Given the description of an element on the screen output the (x, y) to click on. 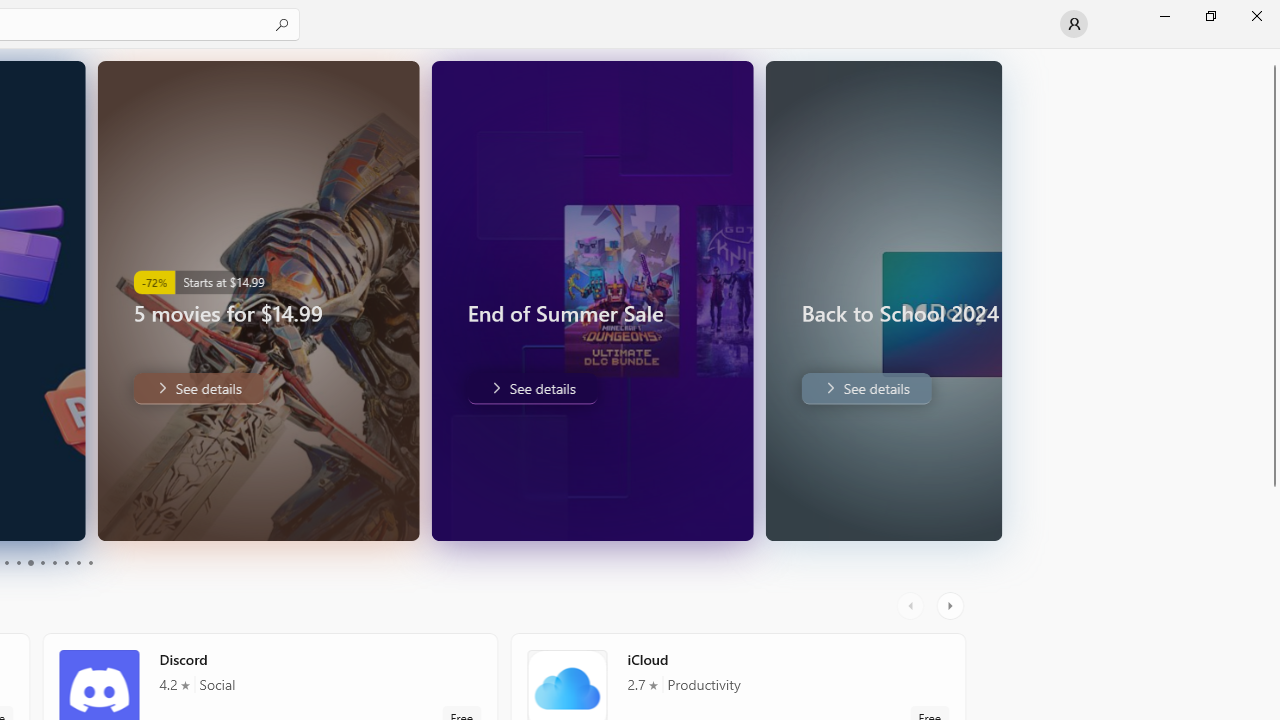
AutomationID: LeftScrollButton (913, 606)
AutomationID: RightScrollButton (952, 606)
Page 3 (5, 562)
Page 9 (77, 562)
Page 4 (17, 562)
AutomationID: Image (989, 300)
Page 6 (41, 562)
User profile (1073, 24)
Page 8 (65, 562)
End of Summer Sale. Save up to 80%.  . See details (410, 387)
Restore Microsoft Store (1210, 15)
Page 7 (54, 562)
Close Microsoft Store (1256, 15)
Page 5 (29, 562)
